Given the description of an element on the screen output the (x, y) to click on. 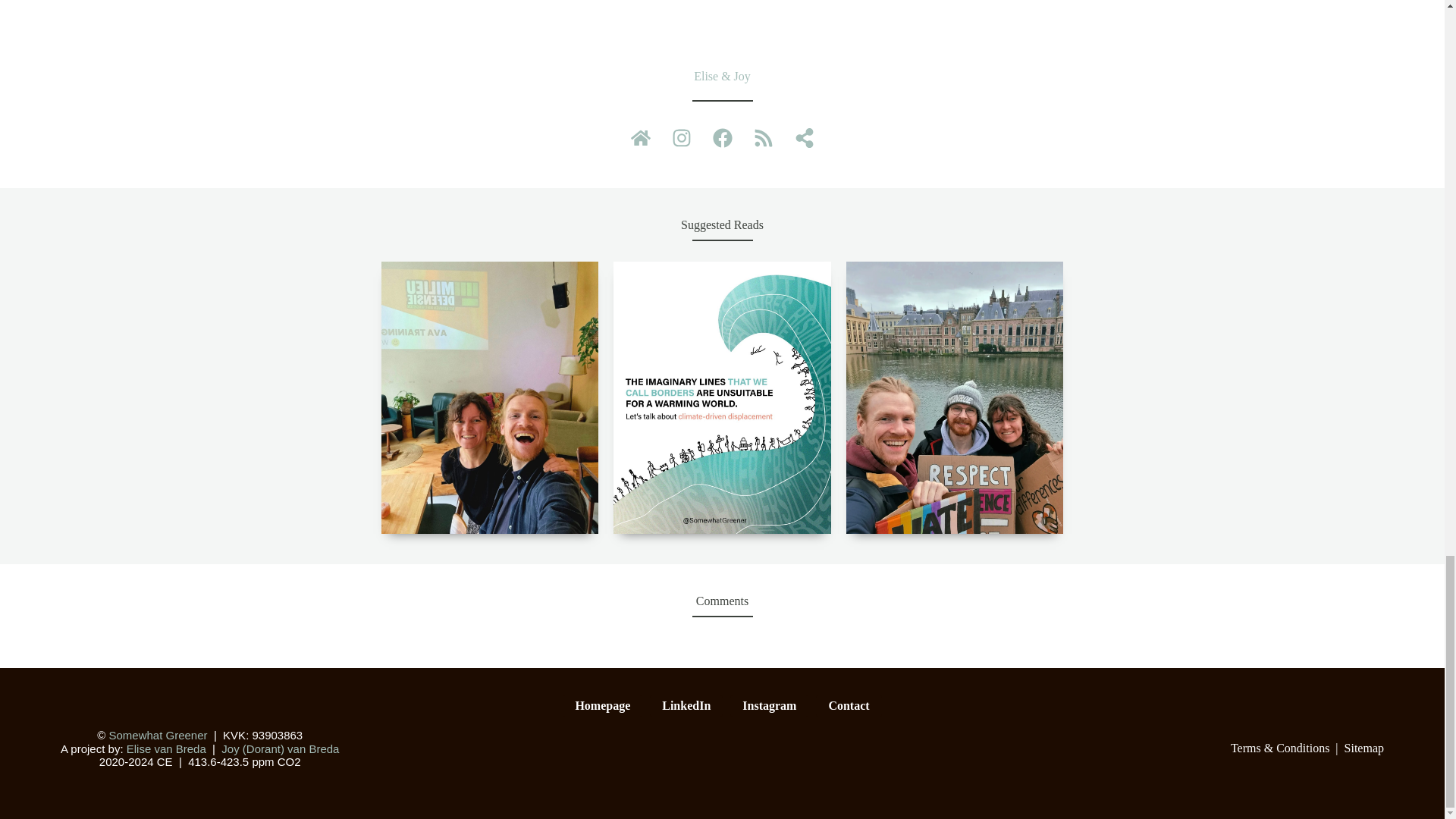
Homepage (602, 705)
